Given the description of an element on the screen output the (x, y) to click on. 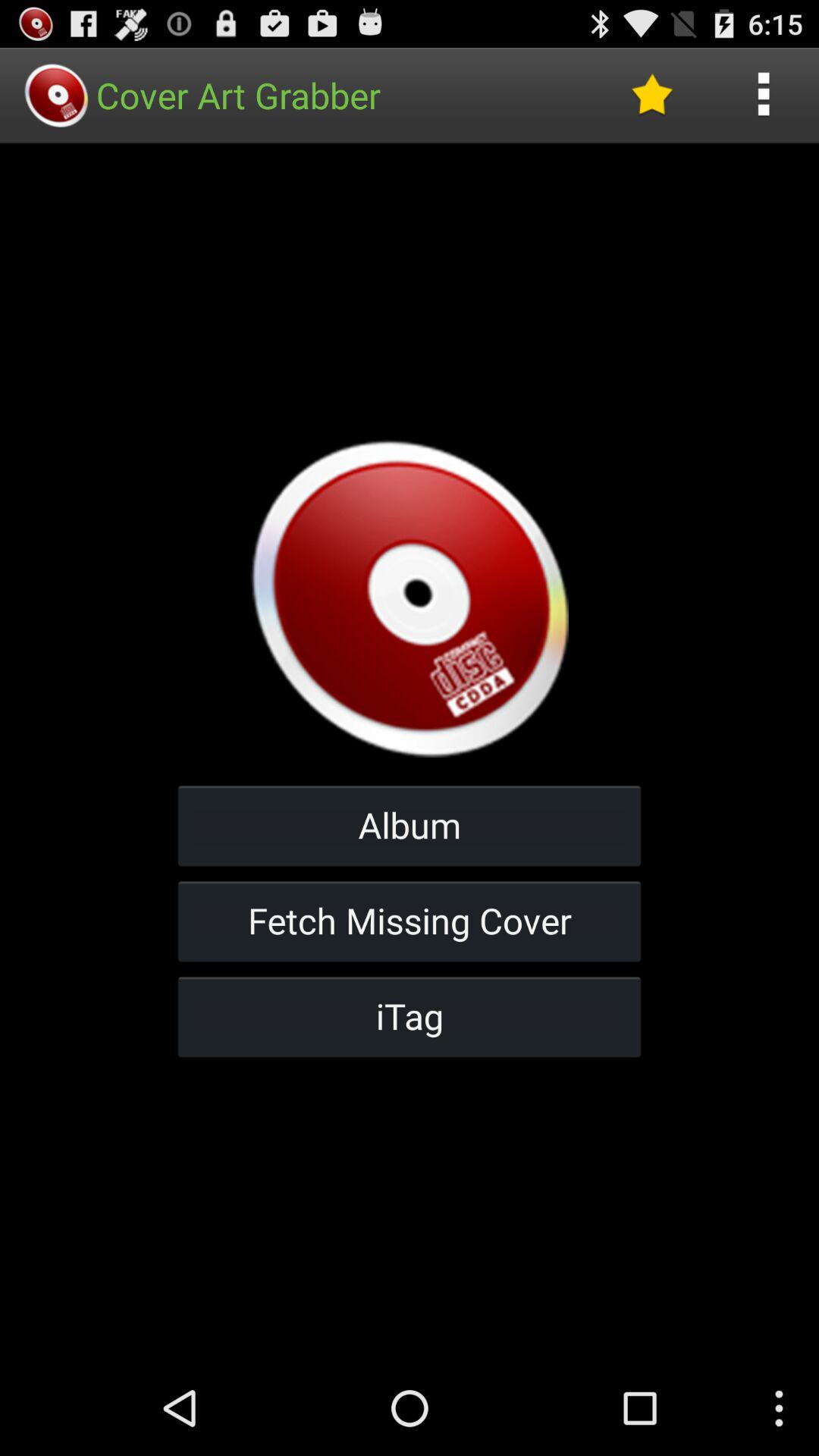
open the icon below fetch missing cover item (409, 1016)
